Given the description of an element on the screen output the (x, y) to click on. 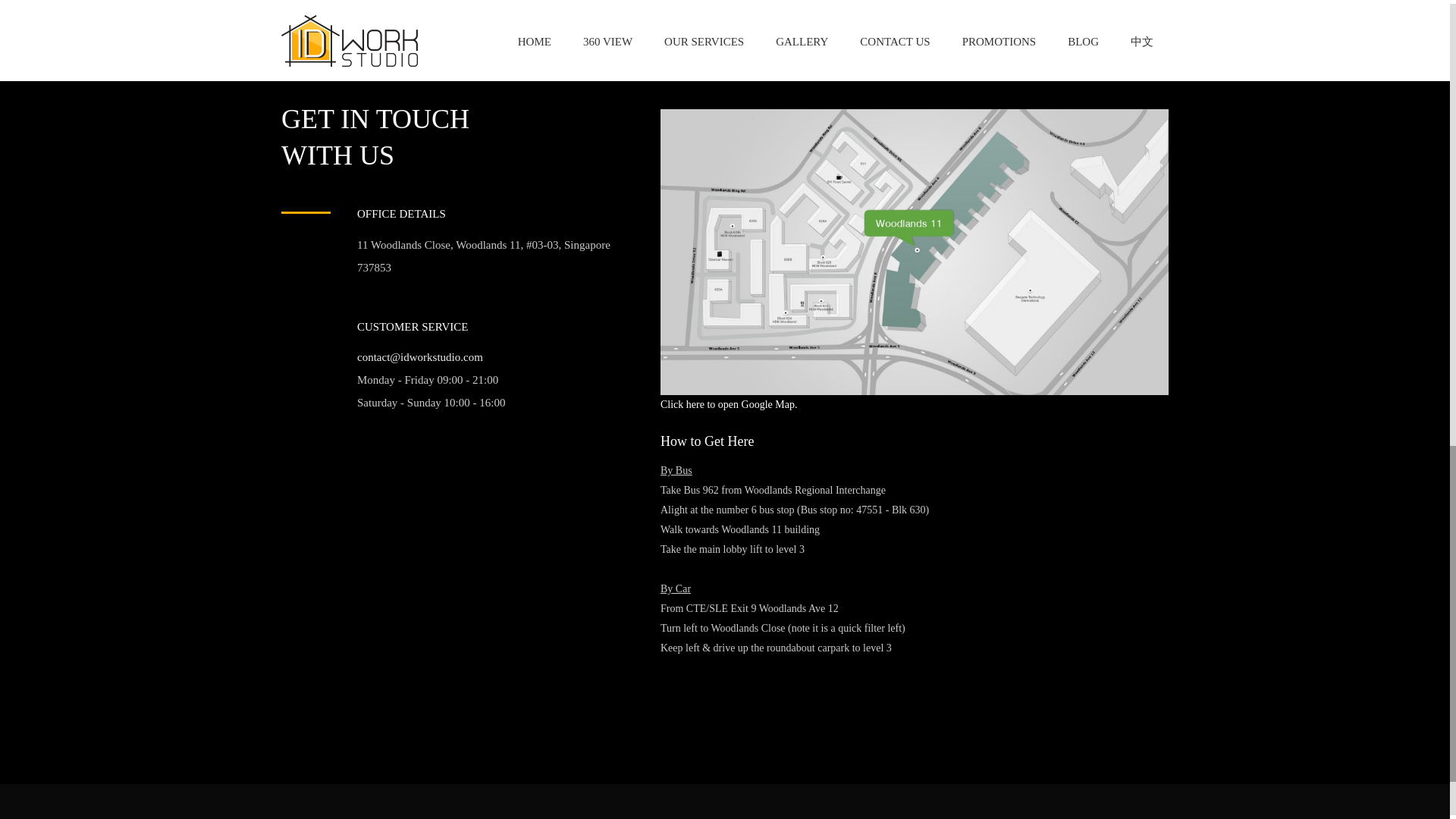
Click here to open Google Map. (728, 404)
Submit (328, 1)
Submit (328, 1)
